Given the description of an element on the screen output the (x, y) to click on. 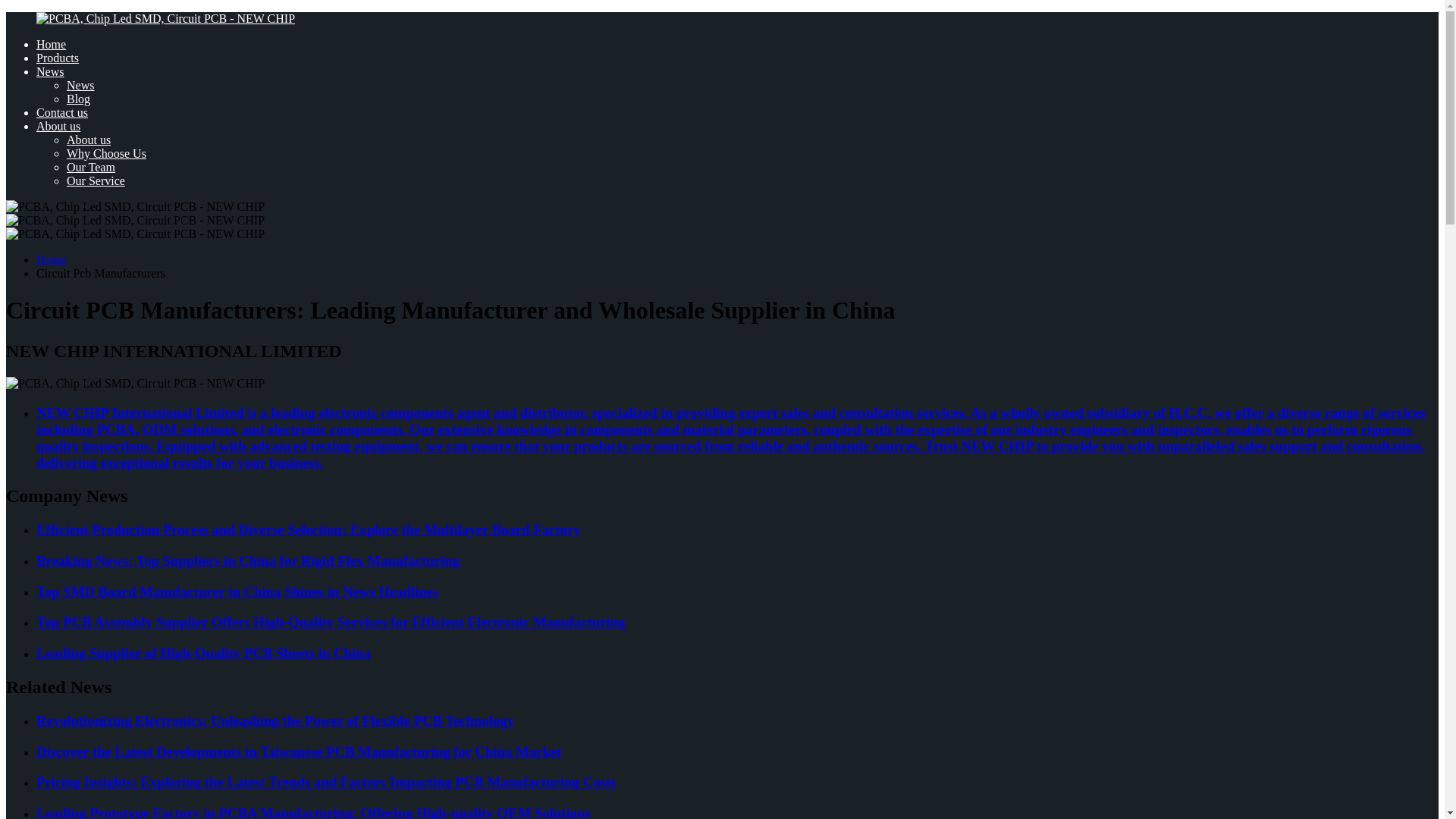
Our Service (95, 180)
About us (58, 125)
Contact us (61, 112)
Our Team (90, 166)
About us (88, 139)
Home (50, 43)
News (80, 84)
Why Choose Us (106, 153)
Home (50, 259)
Products (57, 57)
News (50, 71)
Blog (78, 98)
